Given the description of an element on the screen output the (x, y) to click on. 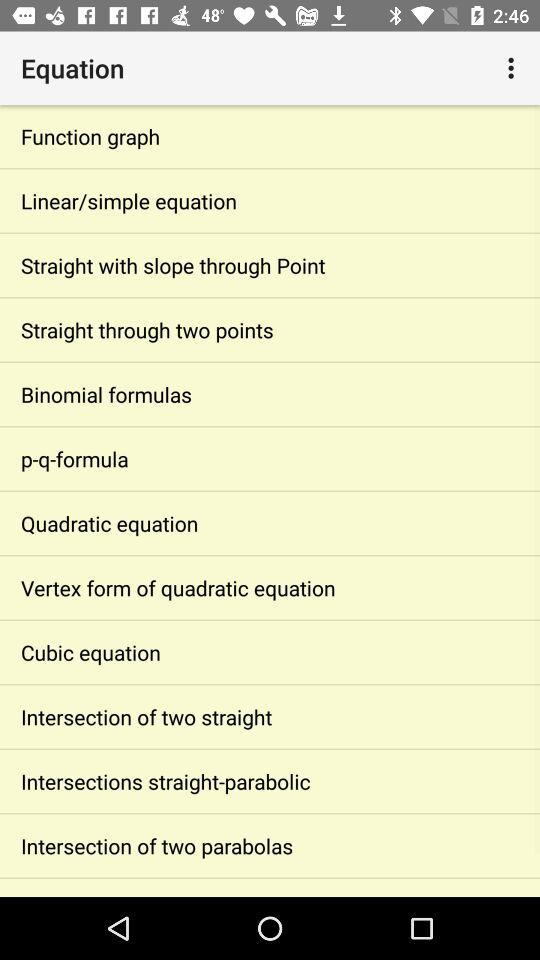
open function graph item (270, 136)
